Given the description of an element on the screen output the (x, y) to click on. 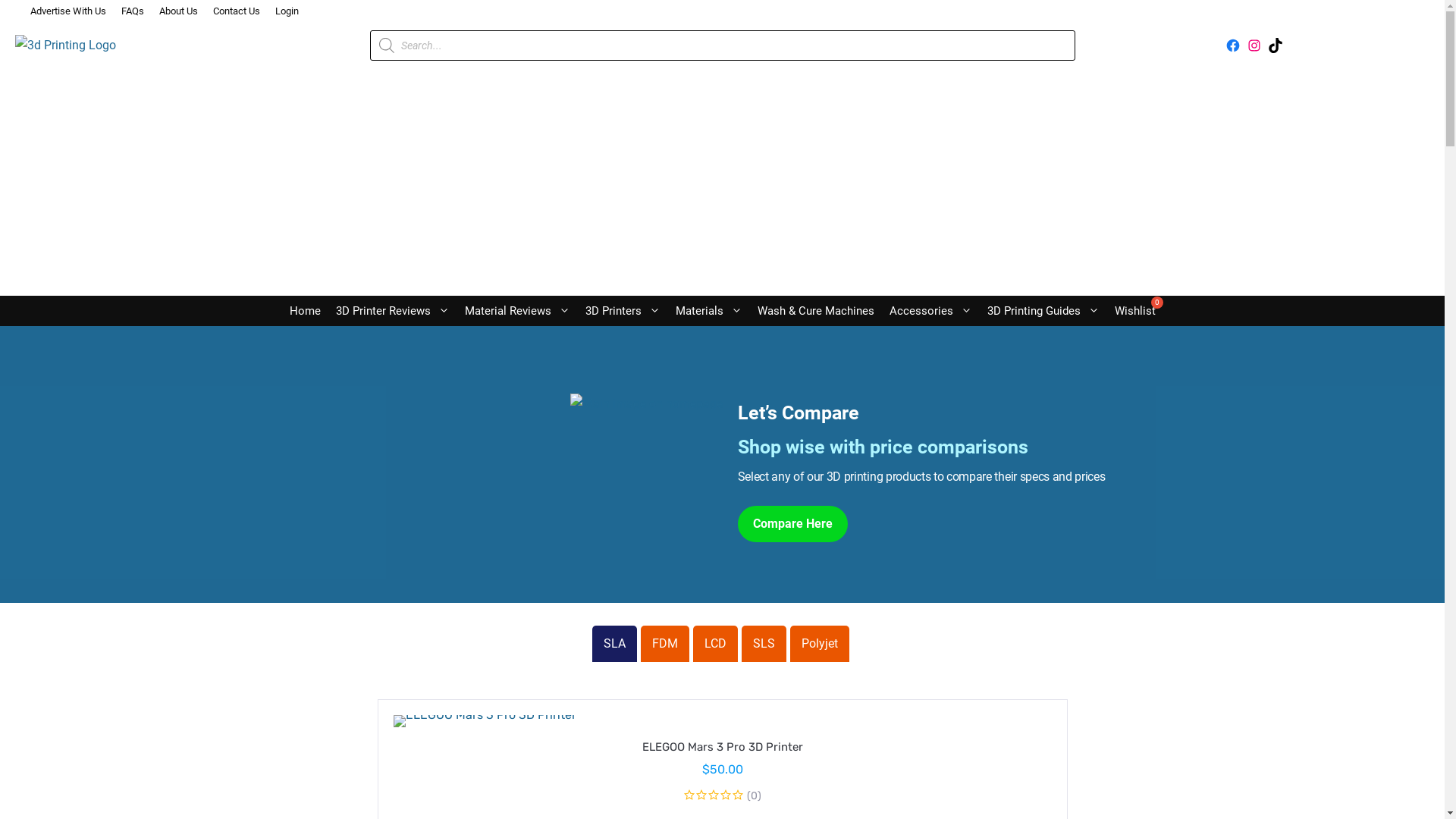
Advertise With Us Element type: text (67, 11)
FAQs Element type: text (132, 11)
3D Printers Element type: text (622, 310)
Advertisement Element type: hover (721, 181)
Compare Here Element type: text (792, 523)
Wishlist Element type: text (1135, 310)
Materials Element type: text (708, 310)
About Us Element type: text (178, 11)
TikTok Element type: text (1275, 45)
3D Printer Reviews Element type: text (391, 310)
Home Element type: text (305, 310)
Accessories Element type: text (930, 310)
0% Element type: hover (713, 794)
3d Printing Logo Element type: hover (65, 45)
Home 1 Element type: hover (646, 403)
Material Reviews Element type: text (516, 310)
3D Printing Guides Element type: text (1043, 310)
Contact Us Element type: text (236, 11)
Home 2 Element type: hover (483, 721)
Instagram Element type: text (1253, 45)
Wash & Cure Machines Element type: text (815, 310)
Login Element type: text (286, 11)
ELEGOO Mars 3 Pro 3D Printer Element type: text (721, 746)
Facebook Element type: text (1232, 45)
